Given the description of an element on the screen output the (x, y) to click on. 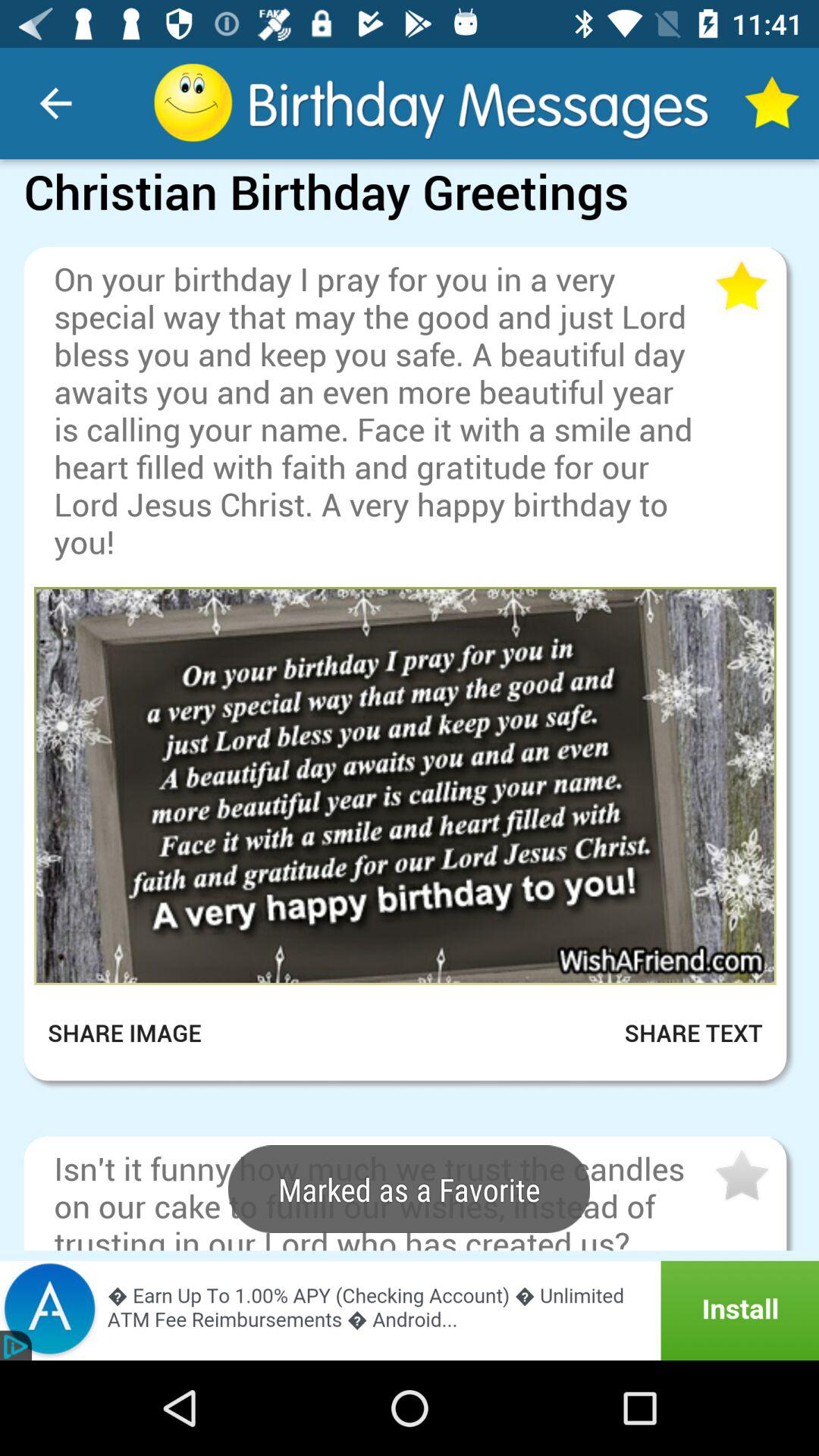
launch the icon above on your birthday (409, 234)
